Given the description of an element on the screen output the (x, y) to click on. 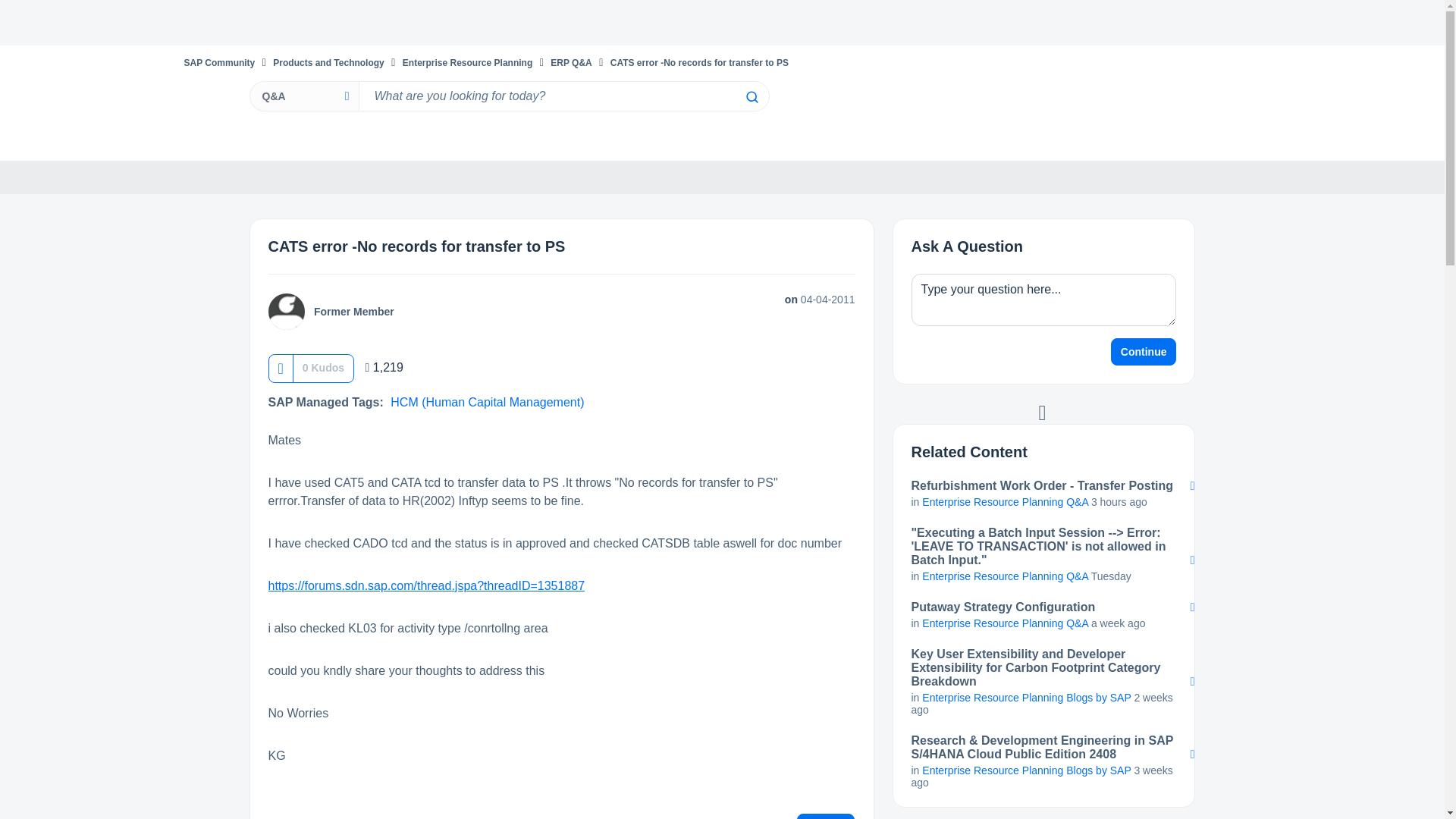
Search Granularity (303, 96)
Products and Technology (328, 62)
Click here to give kudos to this post. (279, 367)
Continue (1143, 351)
The total number of kudos this post has received. (323, 367)
Search (750, 96)
SAP Community (218, 62)
Search (750, 96)
Answer (826, 816)
Search (750, 96)
